Given the description of an element on the screen output the (x, y) to click on. 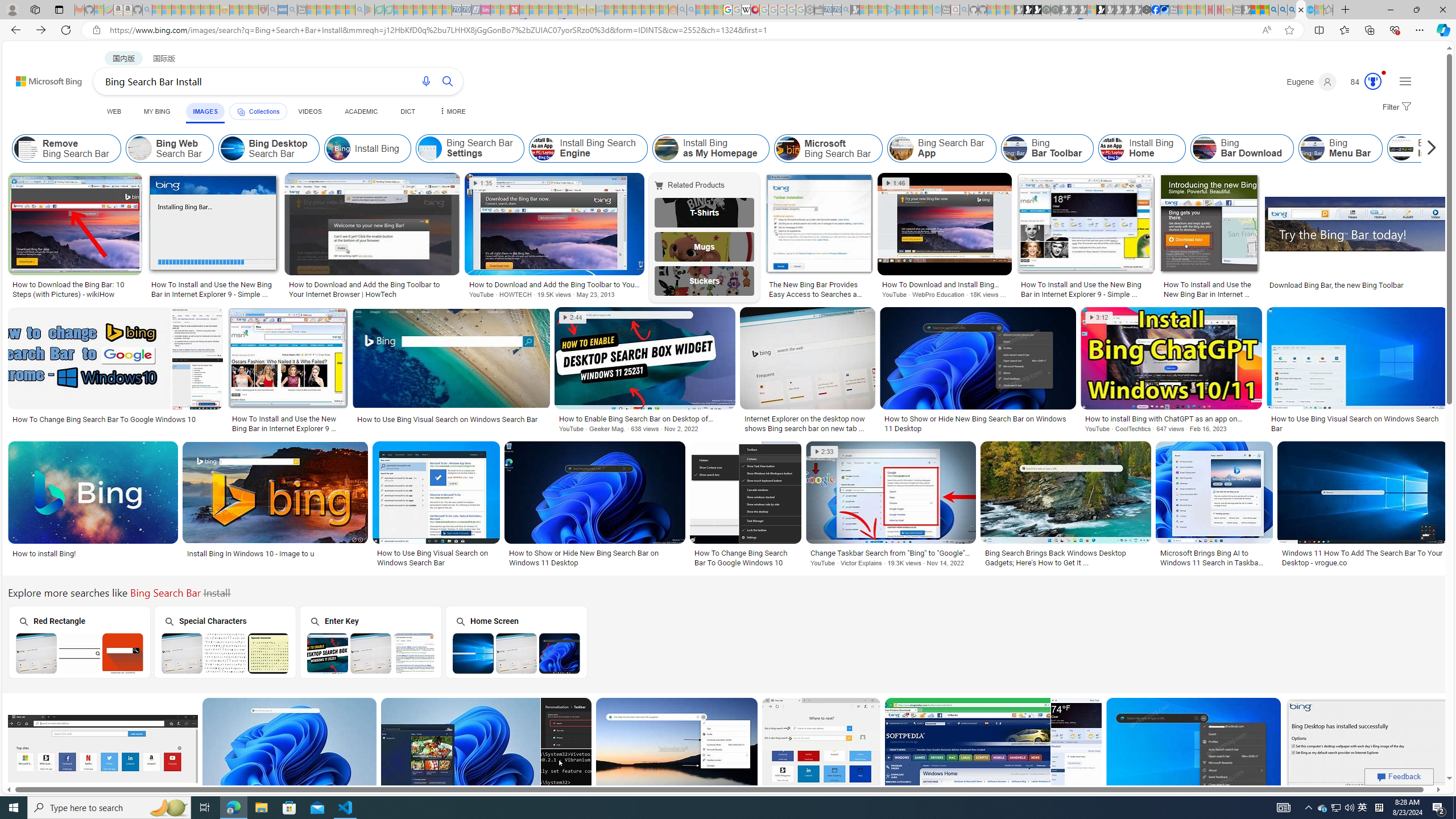
Enter Key (370, 641)
Install Bing In Windows 10 - Image to u (250, 552)
AutomationID: rh_meter (1372, 80)
2:33 (824, 452)
Microsoft Rewards 84 (1362, 81)
